Given the description of an element on the screen output the (x, y) to click on. 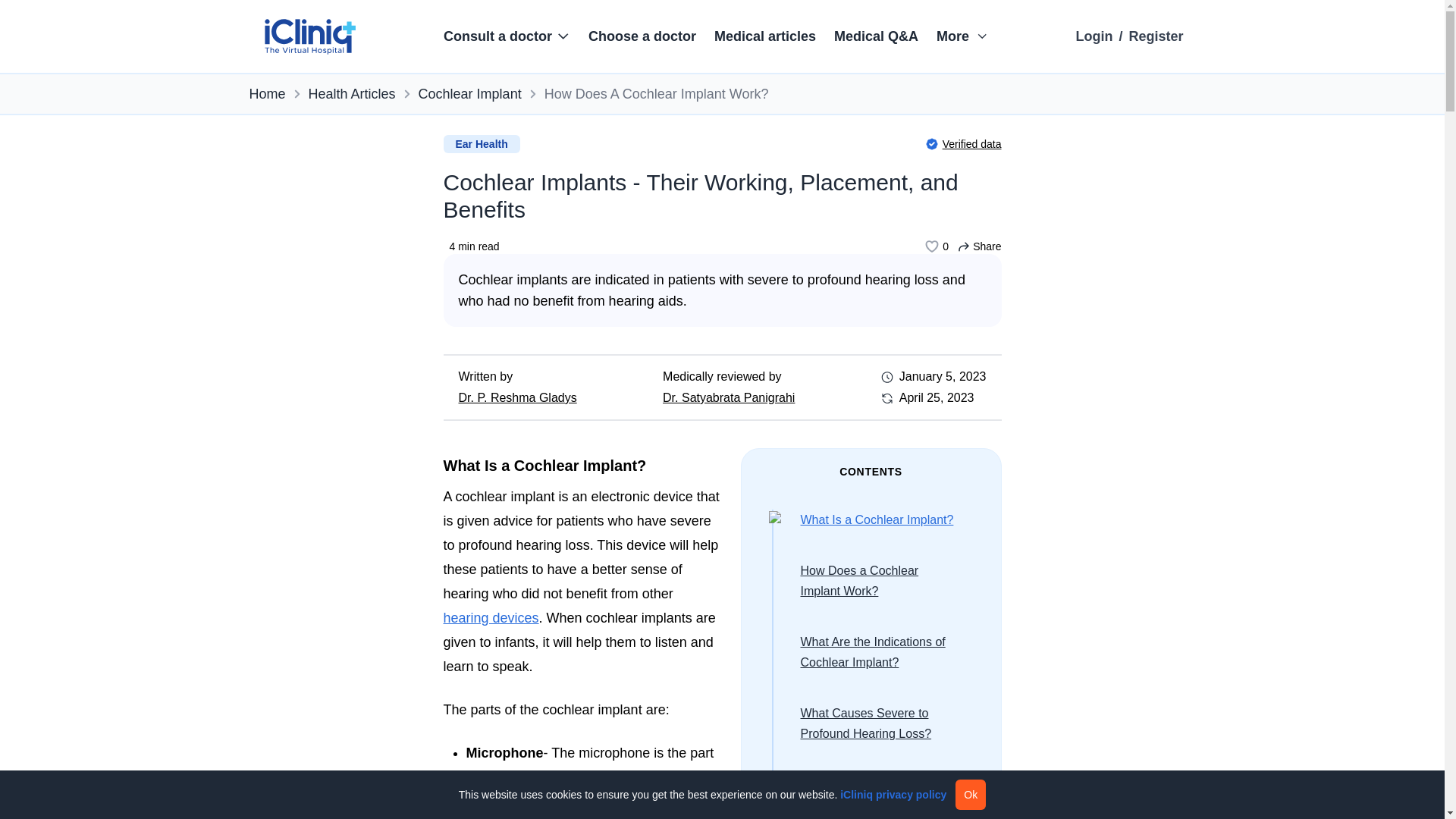
Choose a doctor (641, 36)
Medical articles (764, 36)
Register (1155, 36)
Login (1093, 36)
Hearing aids (490, 617)
